Given the description of an element on the screen output the (x, y) to click on. 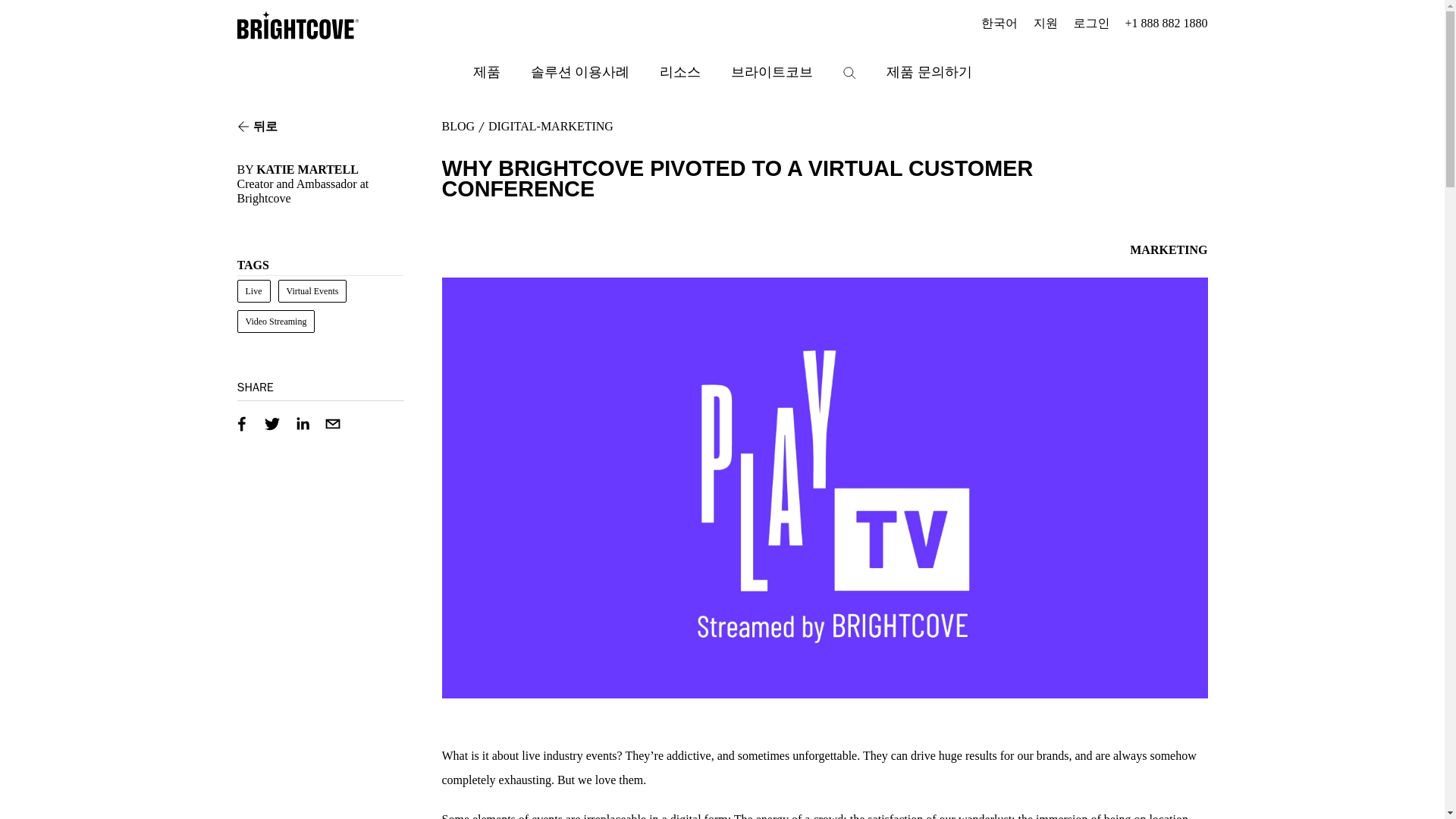
BLOG (457, 125)
SEARCH ICONA MAGNIFYING GLASS ICON. (849, 72)
Live (252, 291)
Virtual Events (312, 291)
DIGITAL-MARKETING (549, 125)
Video Streaming (274, 321)
